Given the description of an element on the screen output the (x, y) to click on. 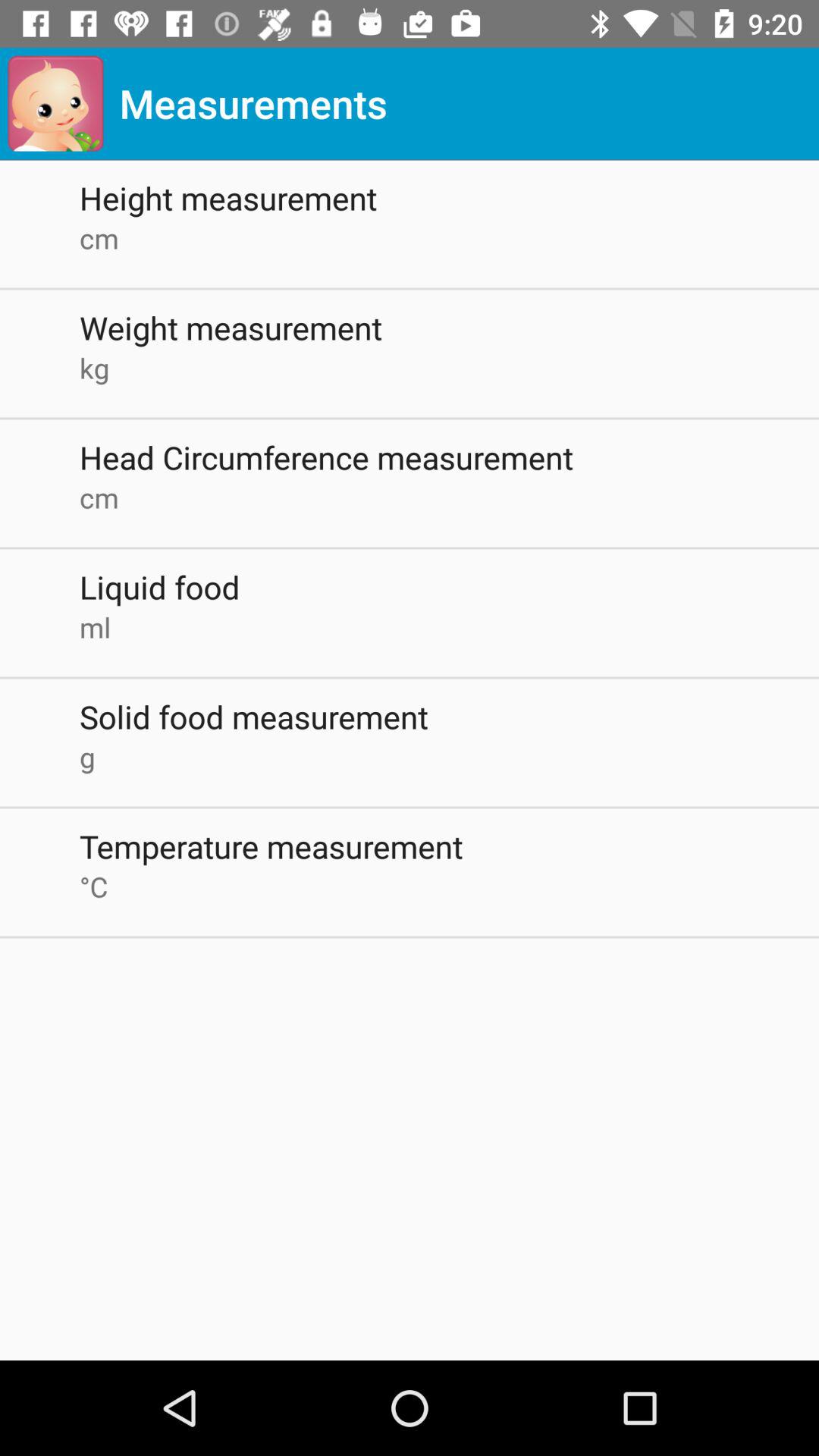
select the app above the temperature measurement (449, 756)
